Given the description of an element on the screen output the (x, y) to click on. 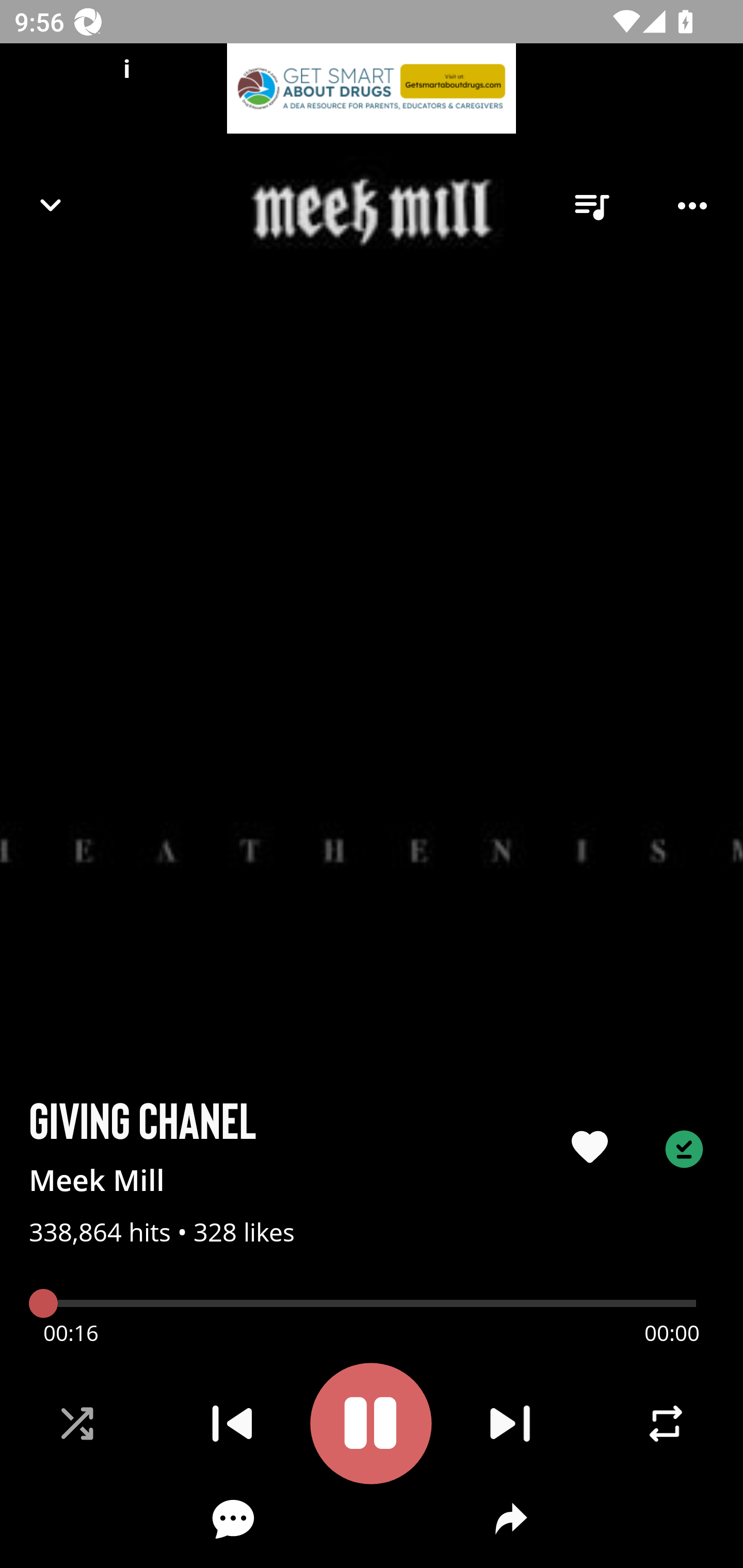
Navigate up (50, 205)
queue (590, 206)
Player options (692, 206)
